Given the description of an element on the screen output the (x, y) to click on. 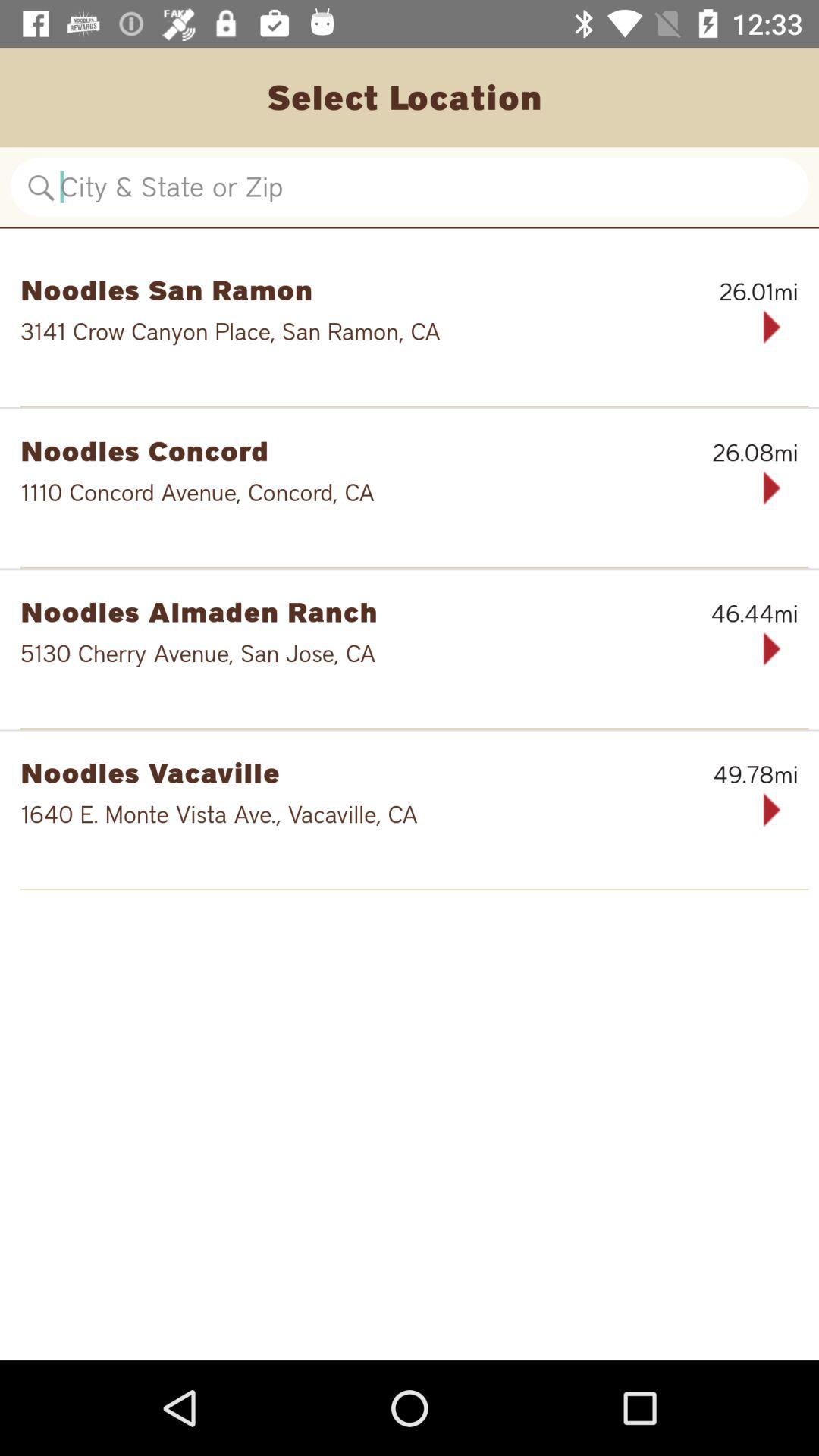
tap the item next to the 49.78mi (331, 772)
